Given the description of an element on the screen output the (x, y) to click on. 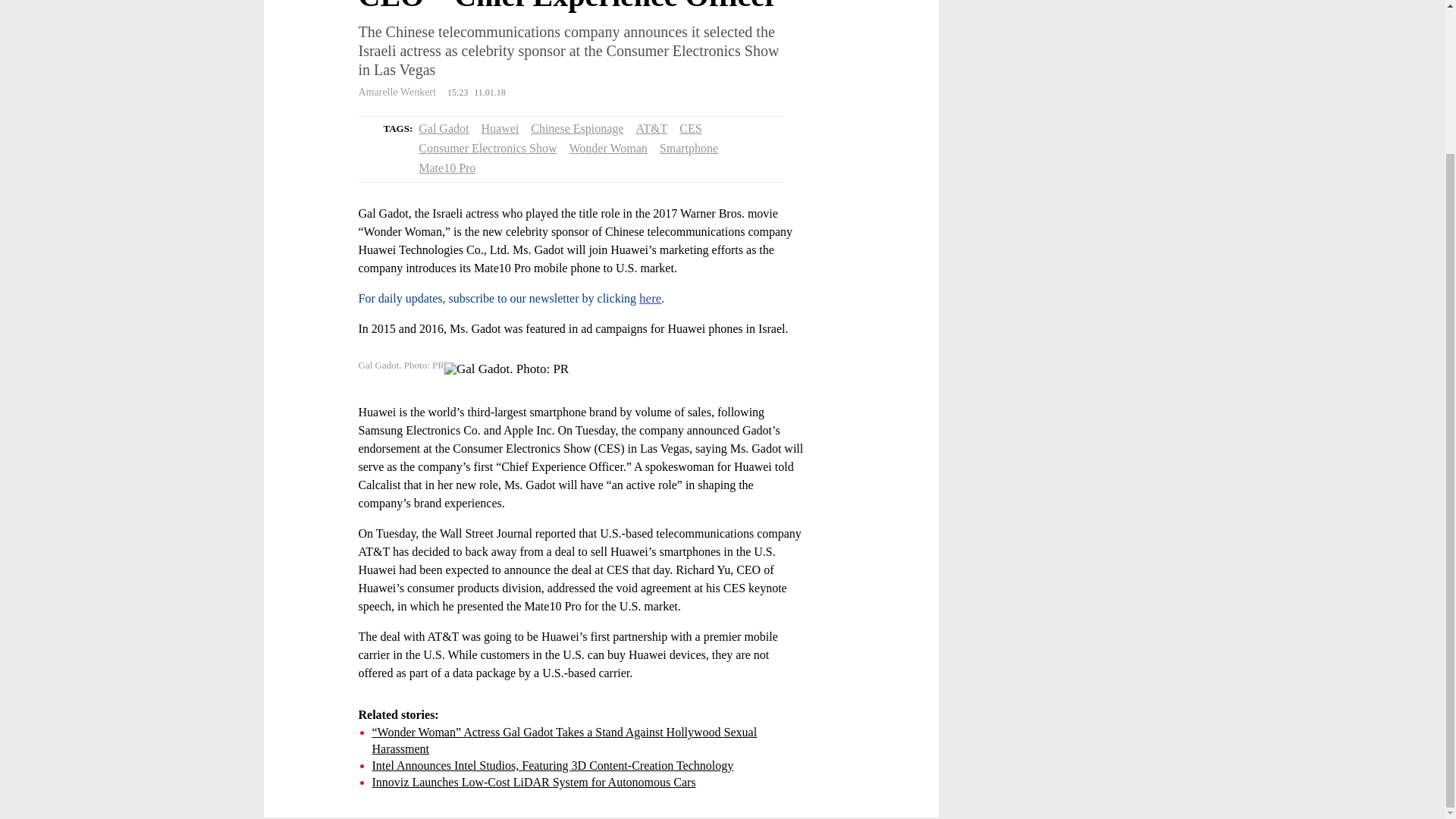
Consumer Electronics Show (487, 147)
Gal Gadot (443, 128)
Linkedin (311, 45)
Chinese Espionage (577, 128)
Mate10 Pro (447, 167)
Print (311, 130)
Talkback (311, 88)
here (650, 298)
CES (690, 128)
